Given the description of an element on the screen output the (x, y) to click on. 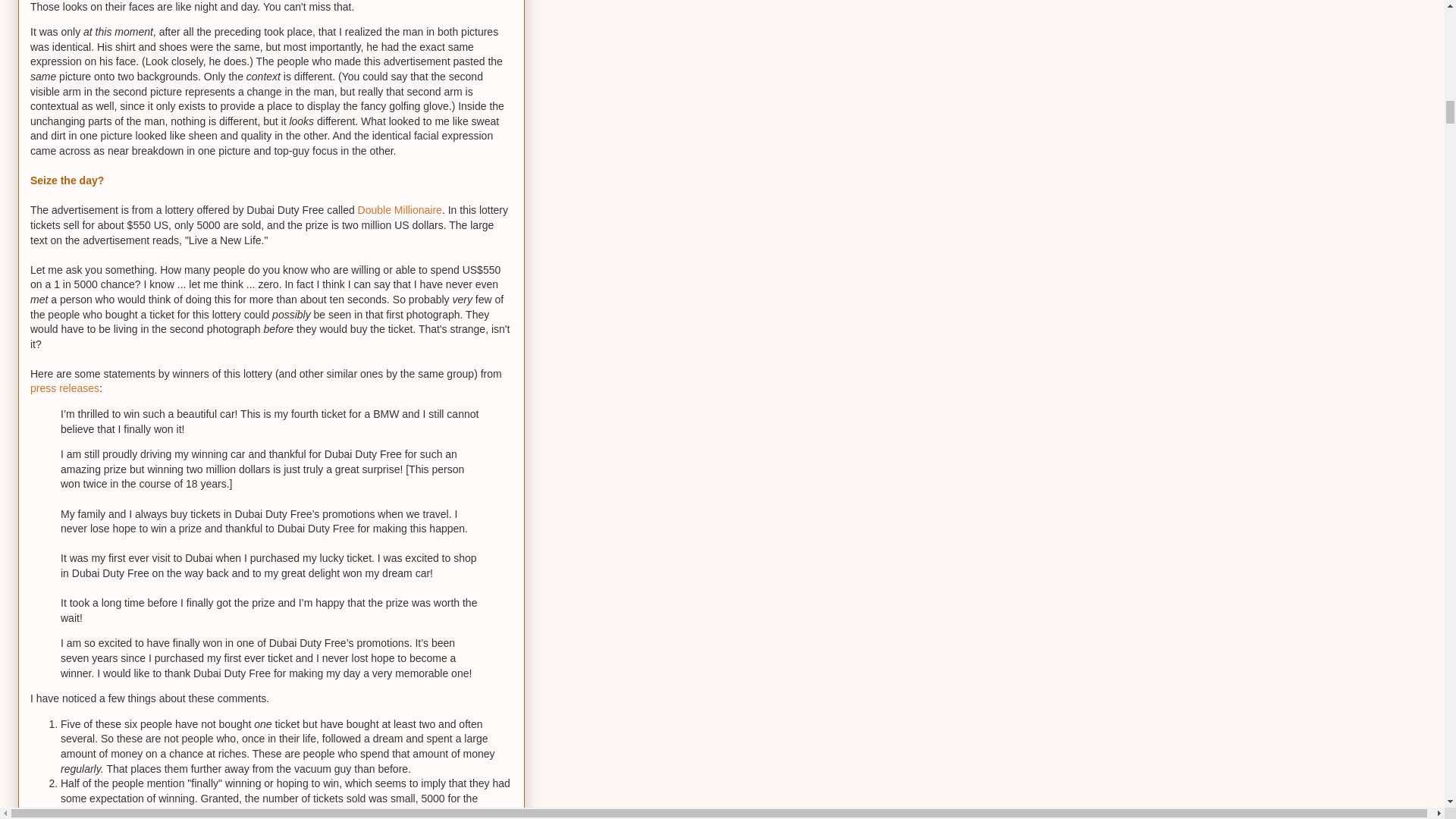
releases (79, 387)
Double Millionaire (400, 209)
press (43, 387)
